Given the description of an element on the screen output the (x, y) to click on. 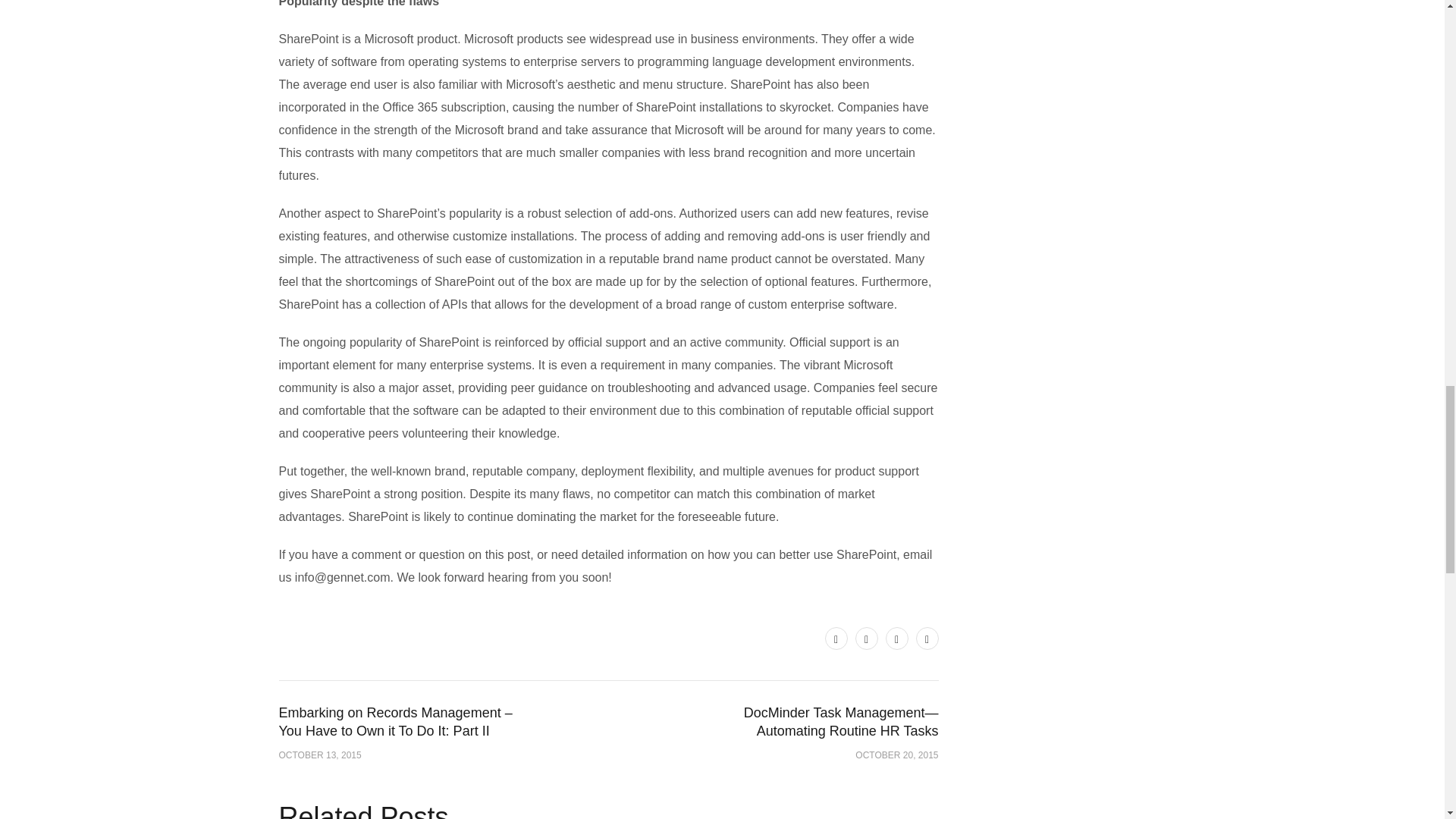
Facebook (866, 638)
Twitter (836, 638)
LinkedIn (927, 638)
Pinterest (896, 638)
